Given the description of an element on the screen output the (x, y) to click on. 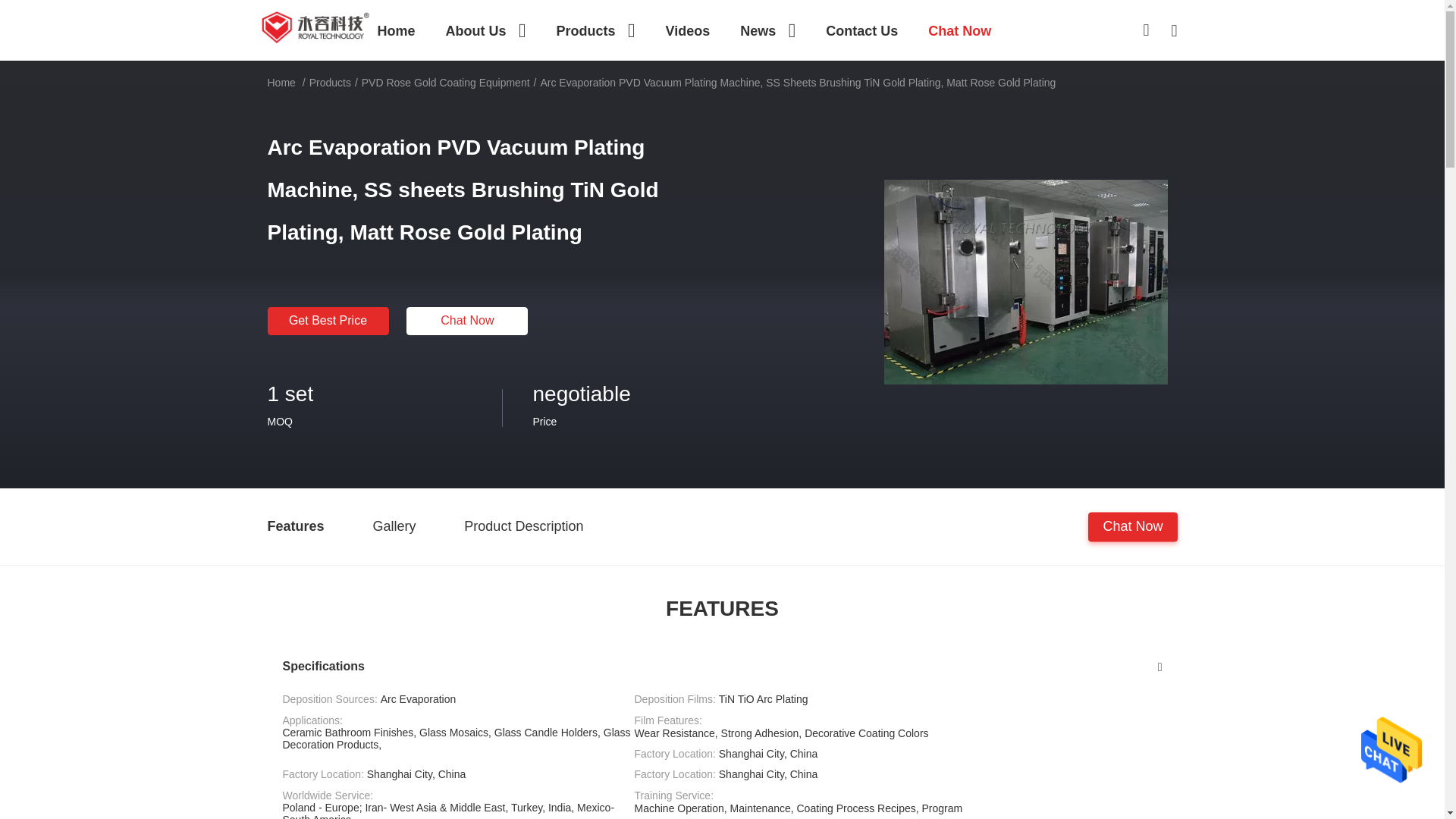
About Us (485, 30)
SHANGHAI ROYAL TECHNOLOGY INC. (312, 26)
Products (595, 30)
About Us (485, 30)
Products (595, 30)
